Given the description of an element on the screen output the (x, y) to click on. 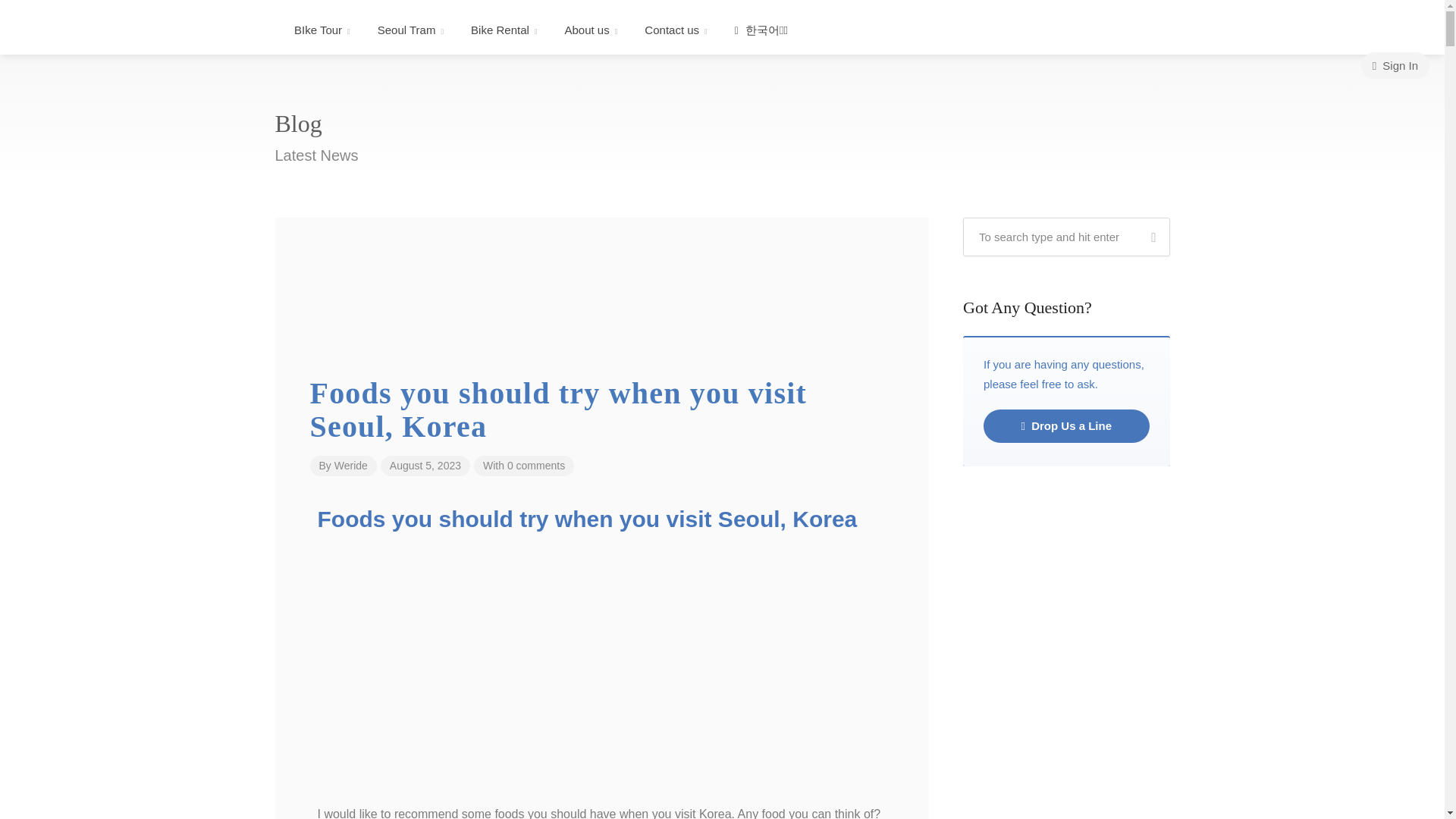
We Ride Korea Bike Tours (139, 31)
BIke Tour (321, 30)
Bike Rental (504, 30)
Seoul Tram (410, 30)
